Given the description of an element on the screen output the (x, y) to click on. 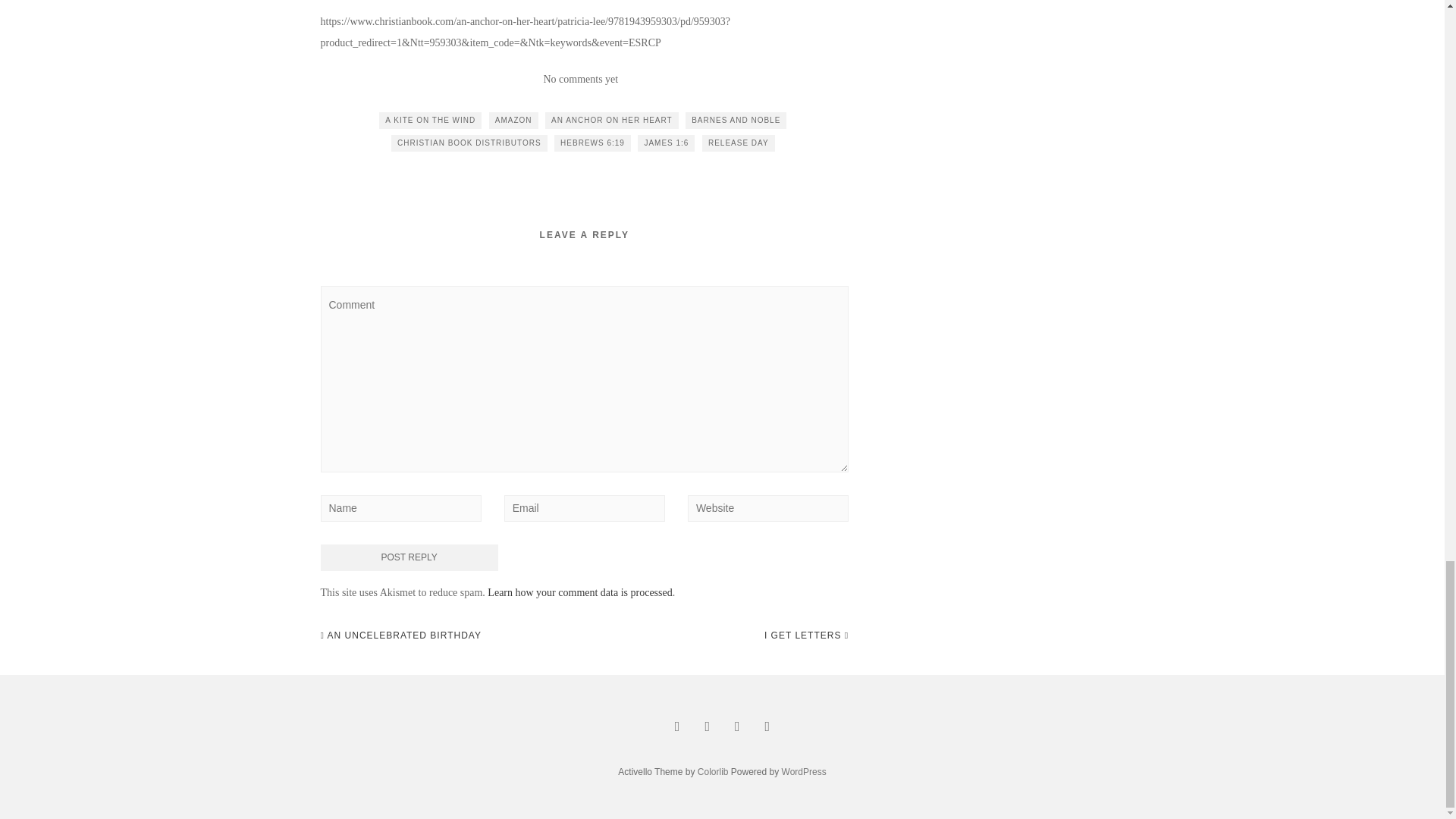
AMAZON (513, 120)
I GET LETTERS (806, 635)
Post Reply (408, 557)
AN UNCELEBRATED BIRTHDAY (400, 635)
No comments yet (580, 79)
RELEASE DAY (737, 143)
CHRISTIAN BOOK DISTRIBUTORS (469, 143)
A KITE ON THE WIND (429, 120)
JAMES 1:6 (665, 143)
HEBREWS 6:19 (592, 143)
